Given the description of an element on the screen output the (x, y) to click on. 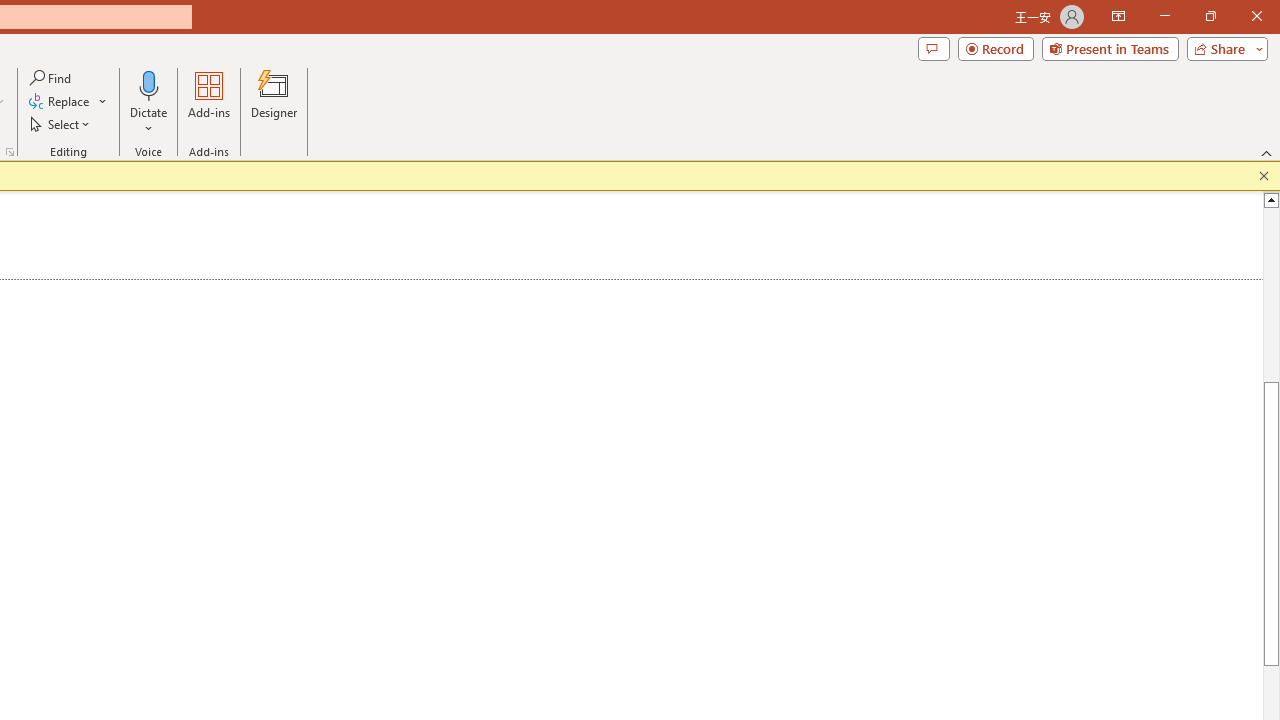
Close this message (1263, 176)
Select (61, 124)
Find... (51, 78)
Replace... (68, 101)
Dictate (149, 84)
Format Object... (9, 151)
